Given the description of an element on the screen output the (x, y) to click on. 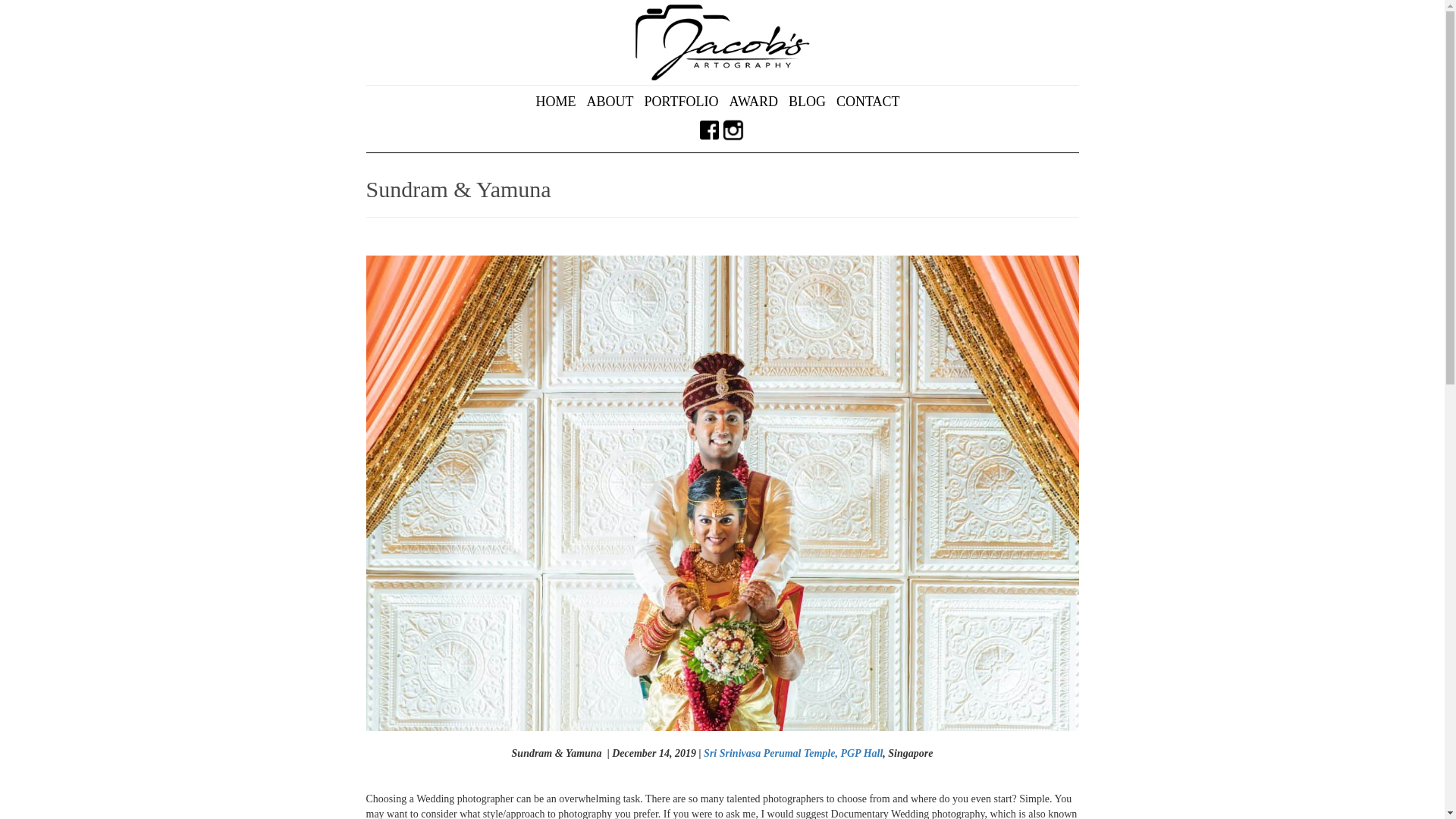
Sri Srinivasa Perumal Temple, PGP Hall (792, 753)
HOME (559, 101)
CONTACT (872, 101)
AWARD (757, 101)
ABOUT (614, 101)
BLOG (811, 101)
PORTFOLIO (685, 101)
